Given the description of an element on the screen output the (x, y) to click on. 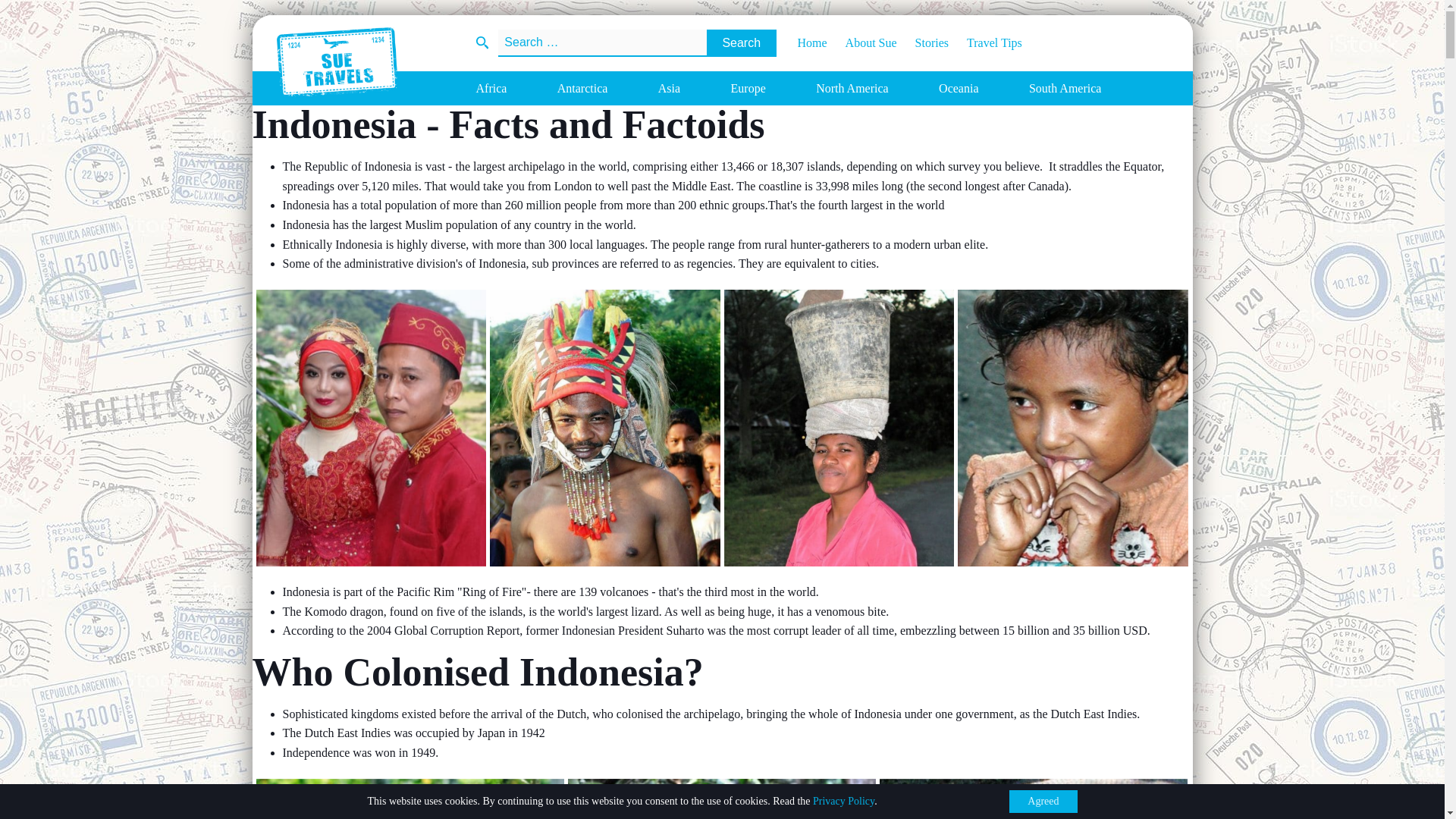
Search (741, 42)
Antarctica (582, 88)
Search (741, 42)
Travel Tips (985, 43)
Africa (491, 88)
About Sue (861, 43)
Search (741, 42)
Europe (747, 88)
Oceania (958, 88)
South America (1065, 88)
